Given the description of an element on the screen output the (x, y) to click on. 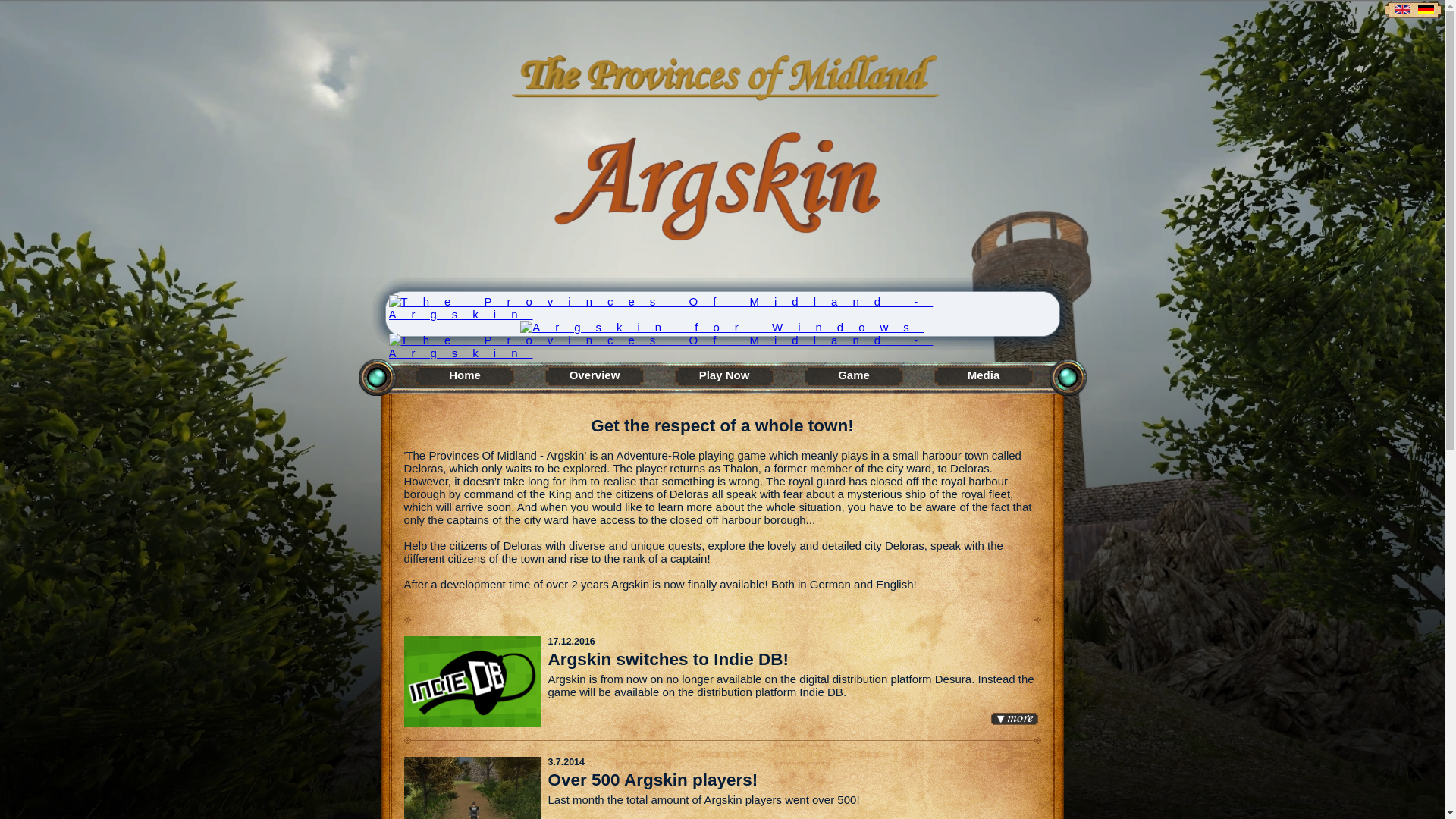
View The Provinces Of Midland - Argskin on Indie DB Element type: hover (721, 313)
View The Provinces Of Midland - Argskin on Indie DB Element type: hover (721, 352)
Overview Element type: text (593, 376)
Home Element type: text (465, 376)
Game Element type: text (853, 376)
Play Now Element type: text (724, 376)
Media Element type: text (983, 376)
Download Argskin for Windows - Indie DB Element type: hover (722, 326)
